Given the description of an element on the screen output the (x, y) to click on. 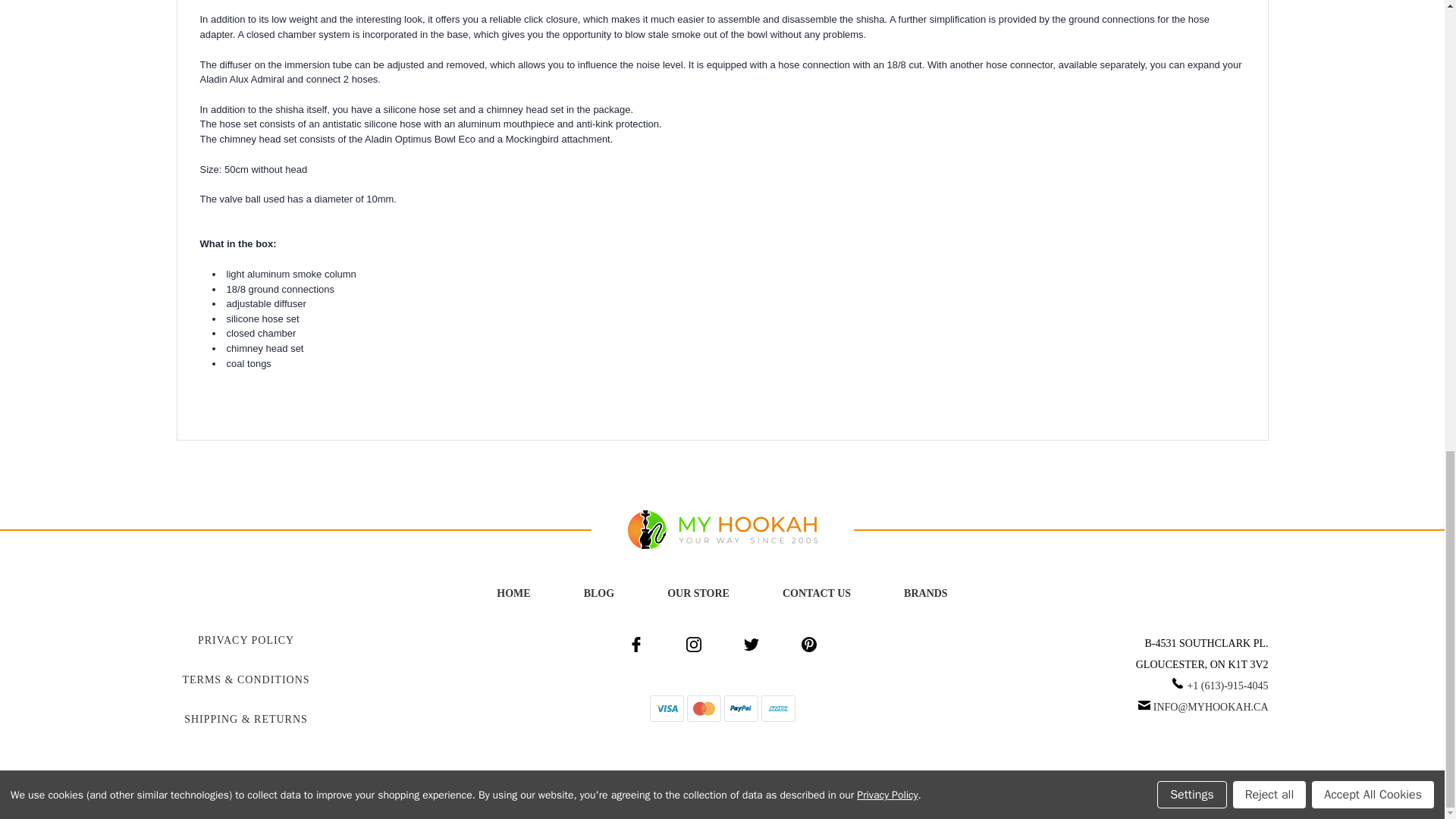
MYHOOKAH (722, 529)
